Given the description of an element on the screen output the (x, y) to click on. 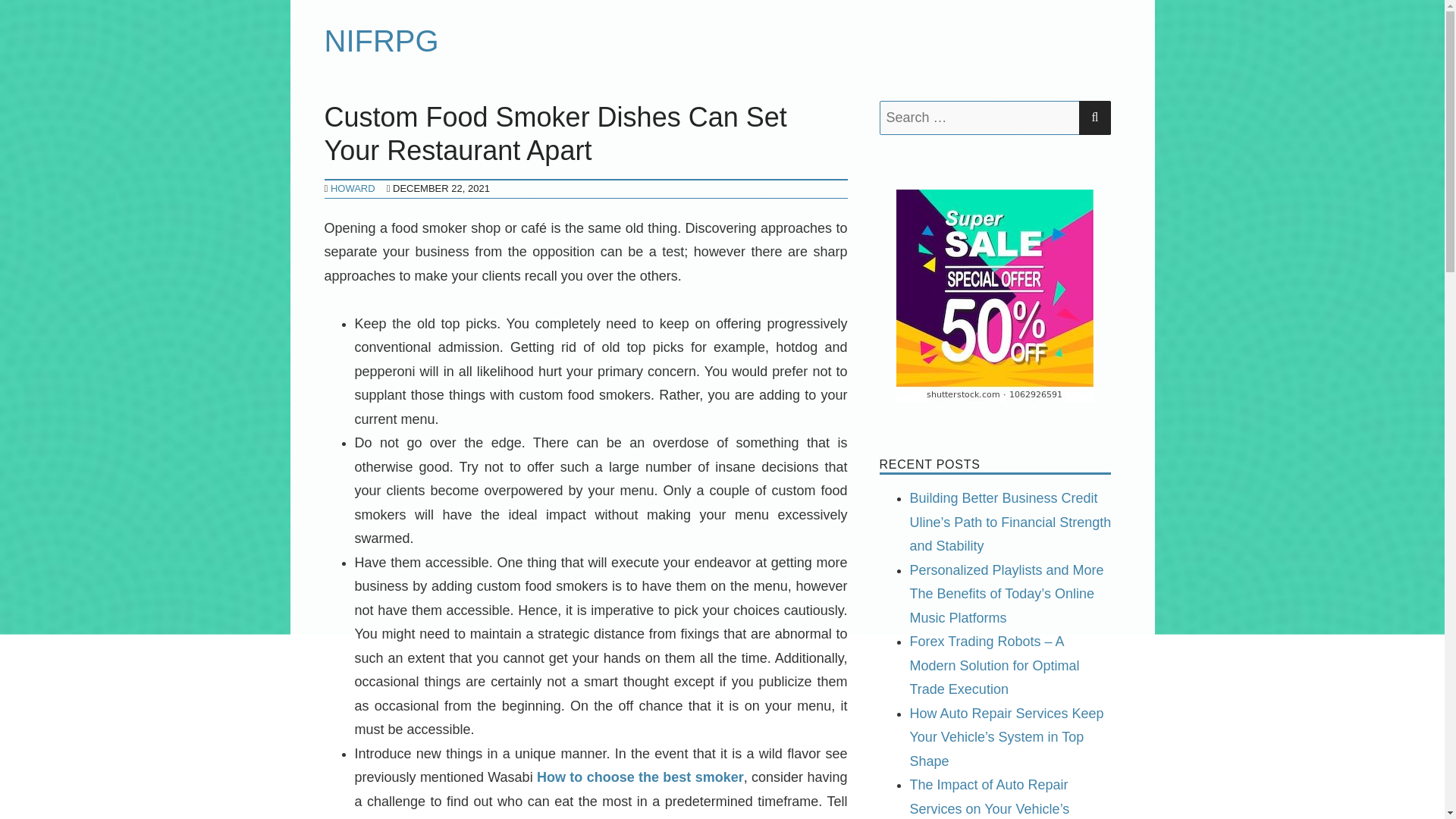
How to choose the best smoker (640, 776)
HOWARD (352, 188)
NIFRPG (381, 40)
SEARCH (1094, 117)
